Given the description of an element on the screen output the (x, y) to click on. 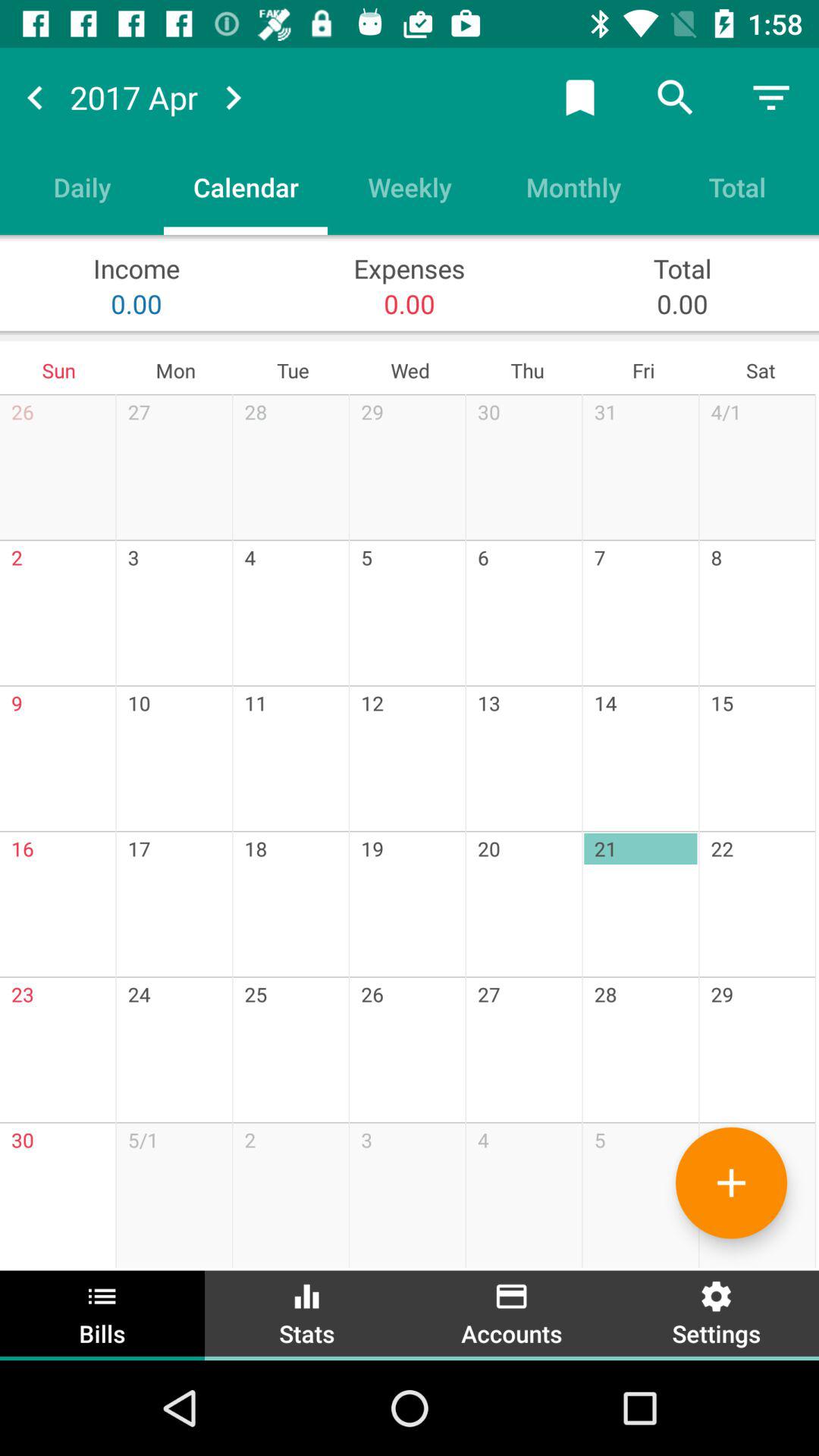
next month (232, 97)
